Given the description of an element on the screen output the (x, y) to click on. 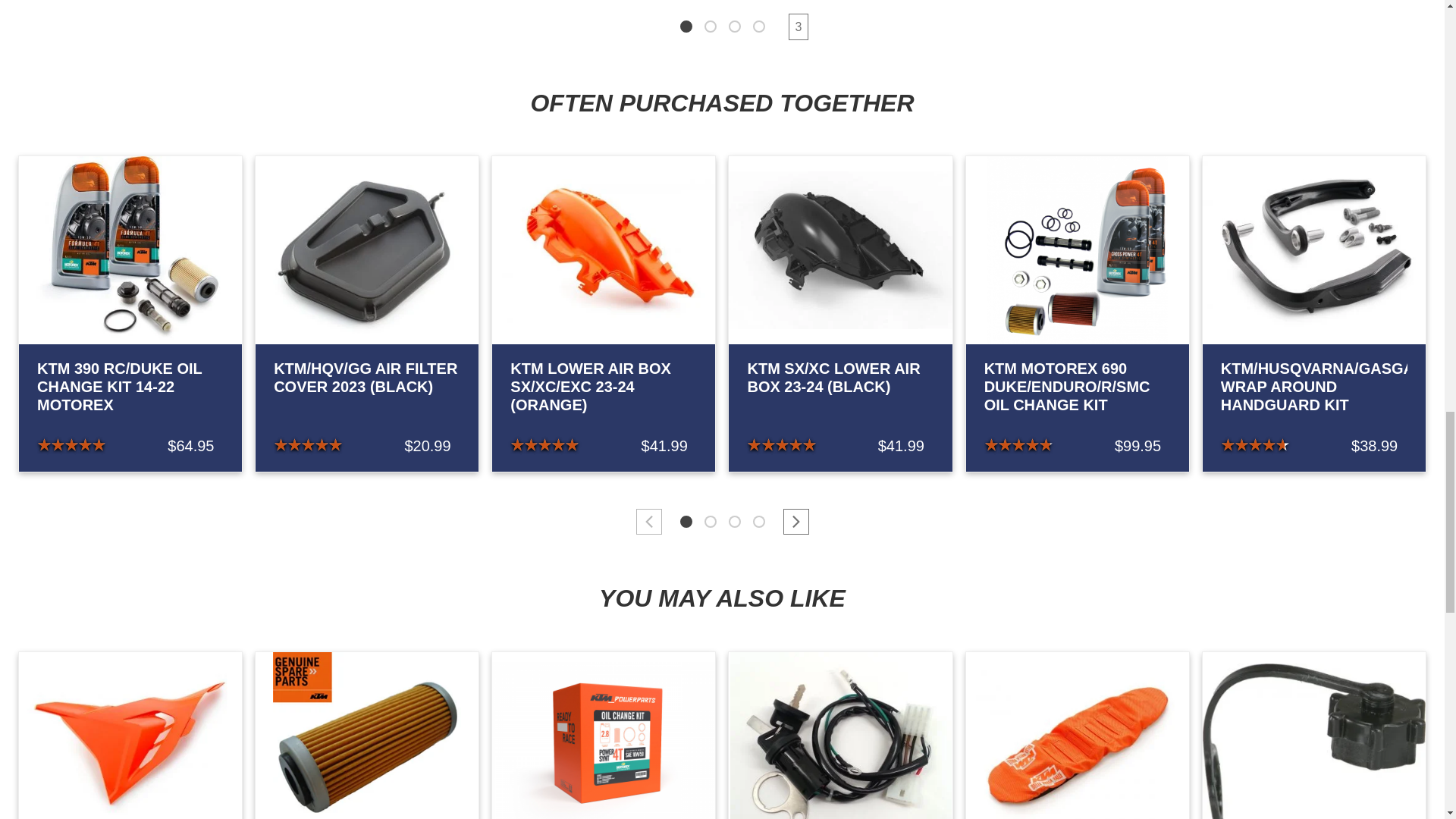
4.67 out of 5 (1254, 445)
4.87 out of 5 (1018, 445)
5 out of 5 (780, 445)
5 out of 5 (544, 445)
5 out of 5 (307, 445)
5 out of 5 (70, 445)
